Given the description of an element on the screen output the (x, y) to click on. 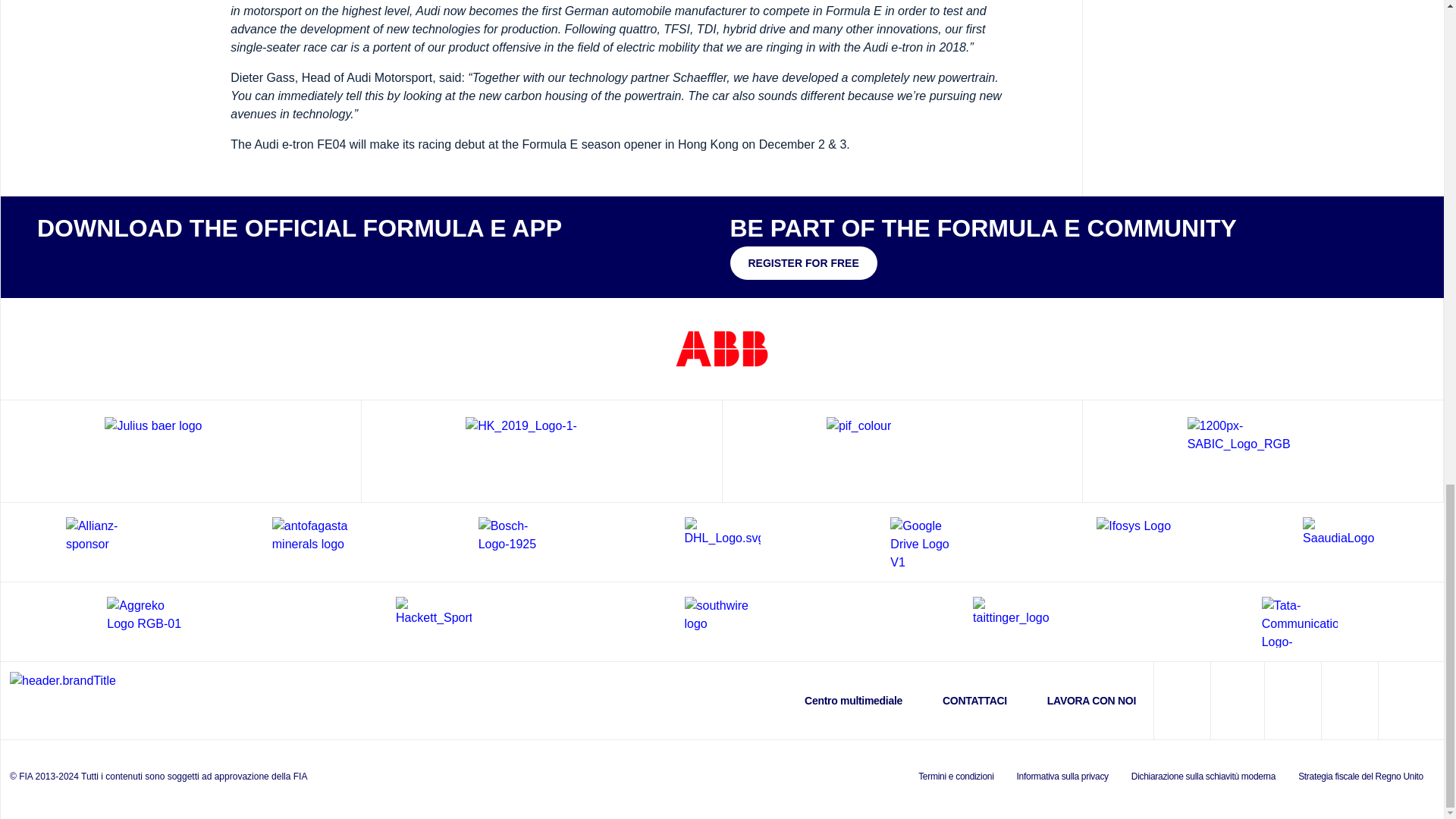
Partner tecnico (541, 450)
Antofagasta Minerals (309, 541)
Bosch (516, 541)
Title Partner (721, 348)
Allianz (103, 541)
label.promo.google.link (175, 260)
label.promo.apple.link (81, 260)
Register for free (802, 263)
Partner globale (180, 450)
Partner principale (1263, 450)
